Given the description of an element on the screen output the (x, y) to click on. 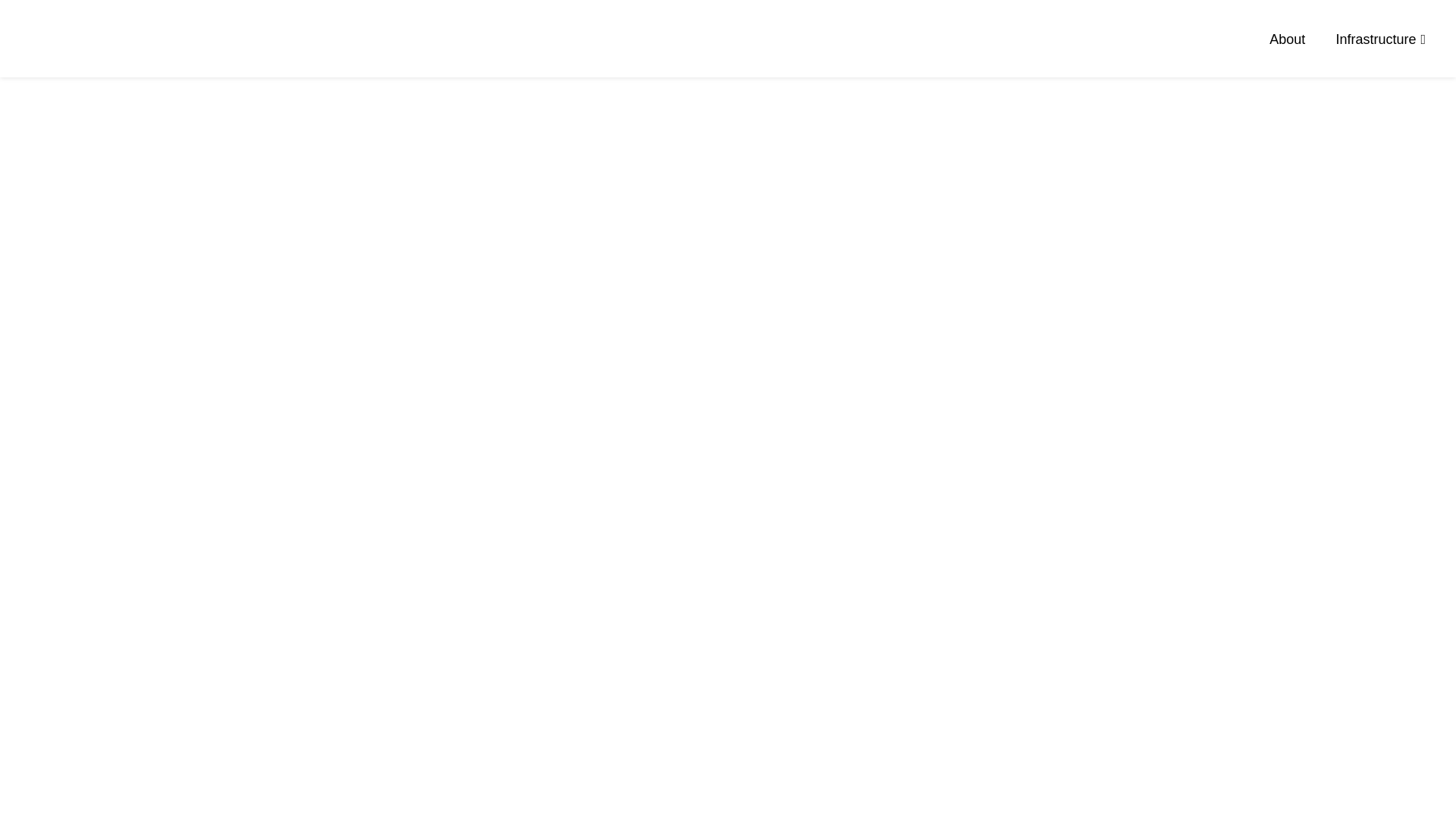
Infrastructure Element type: text (1380, 38)
About Element type: text (1287, 38)
